Given the description of an element on the screen output the (x, y) to click on. 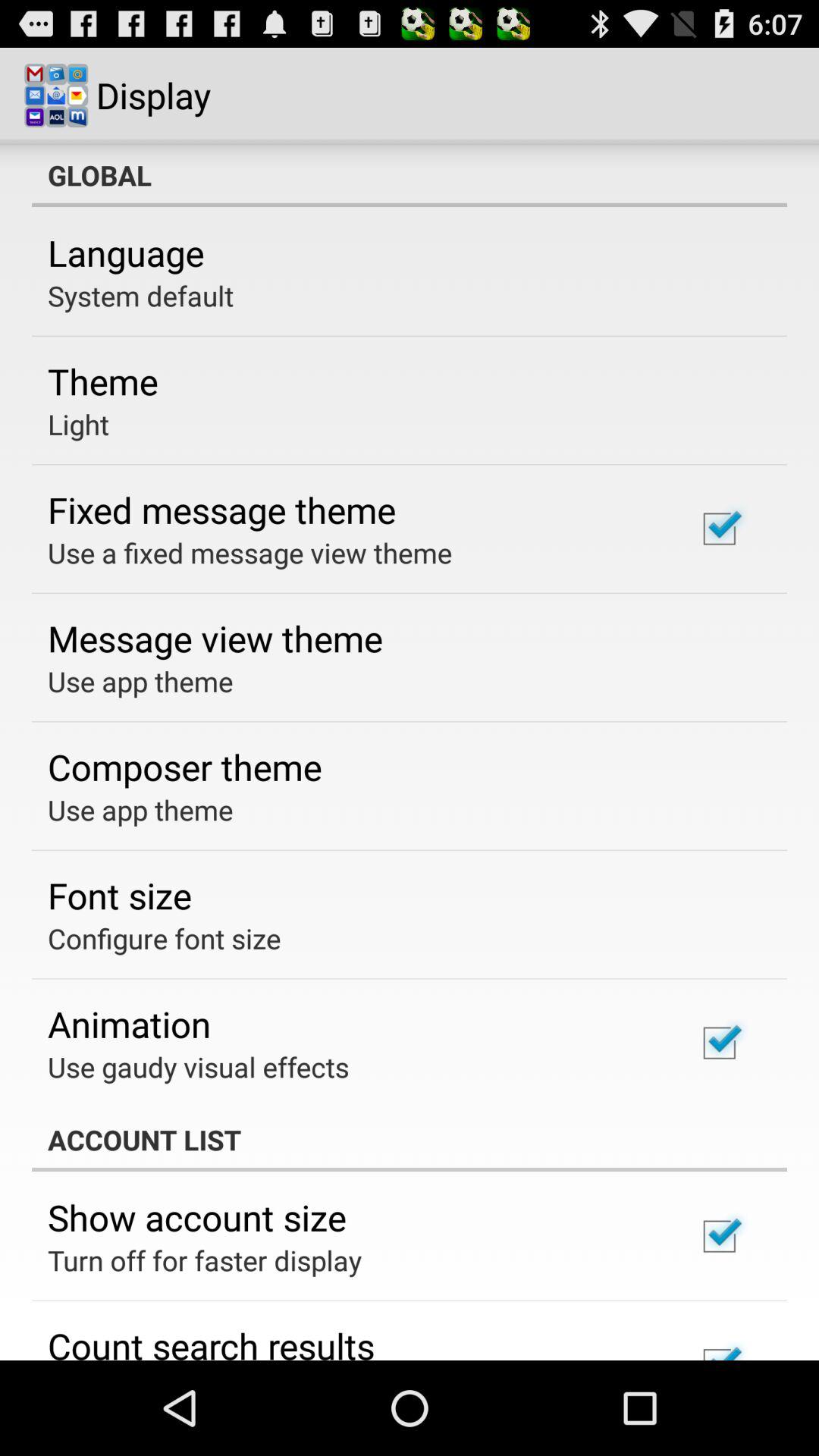
select icon above use gaudy visual icon (129, 1023)
